Given the description of an element on the screen output the (x, y) to click on. 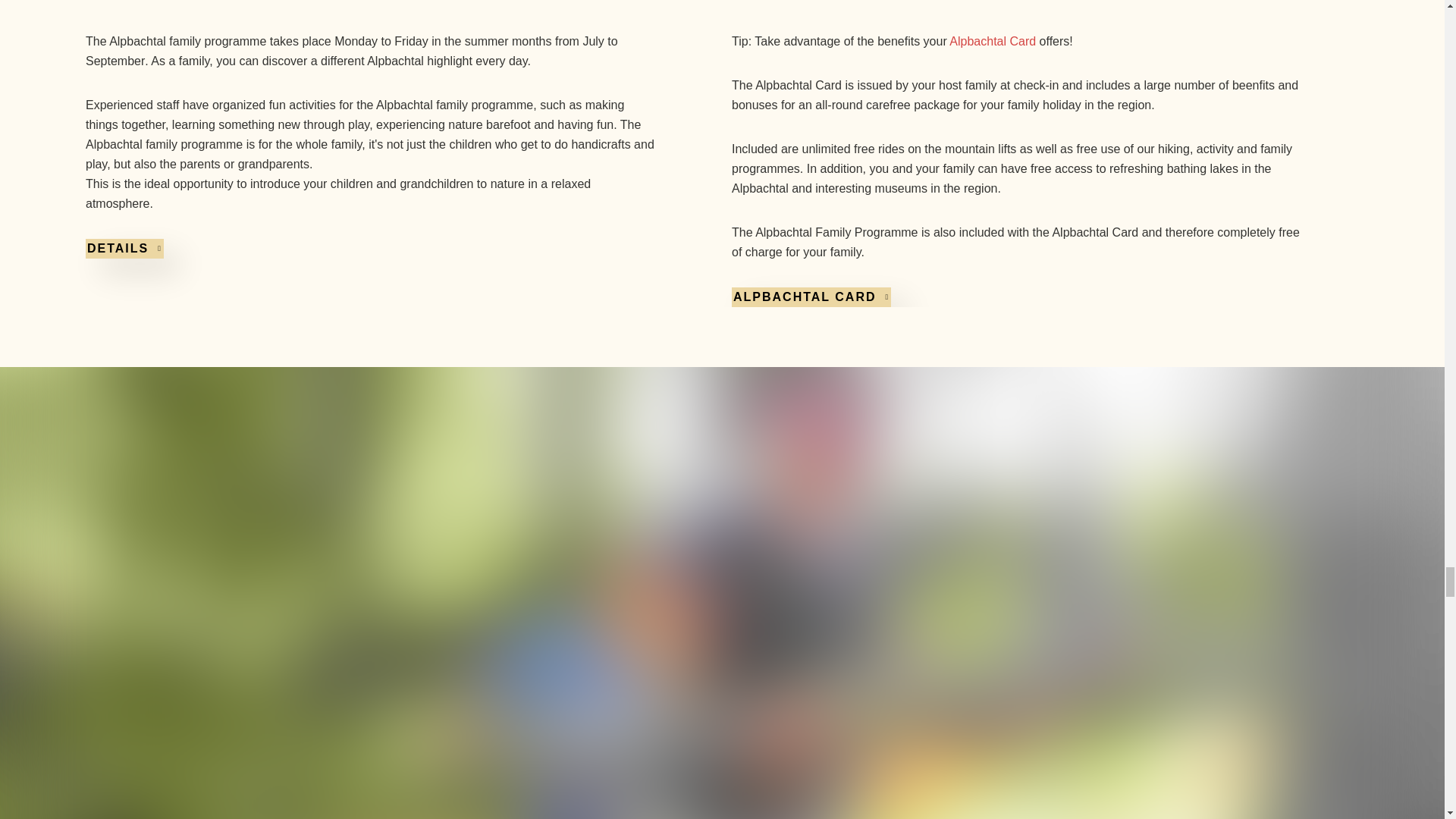
Alpbachtal Card (992, 41)
ALPBACHTAL CARD (809, 297)
DETAILS (123, 248)
